Given the description of an element on the screen output the (x, y) to click on. 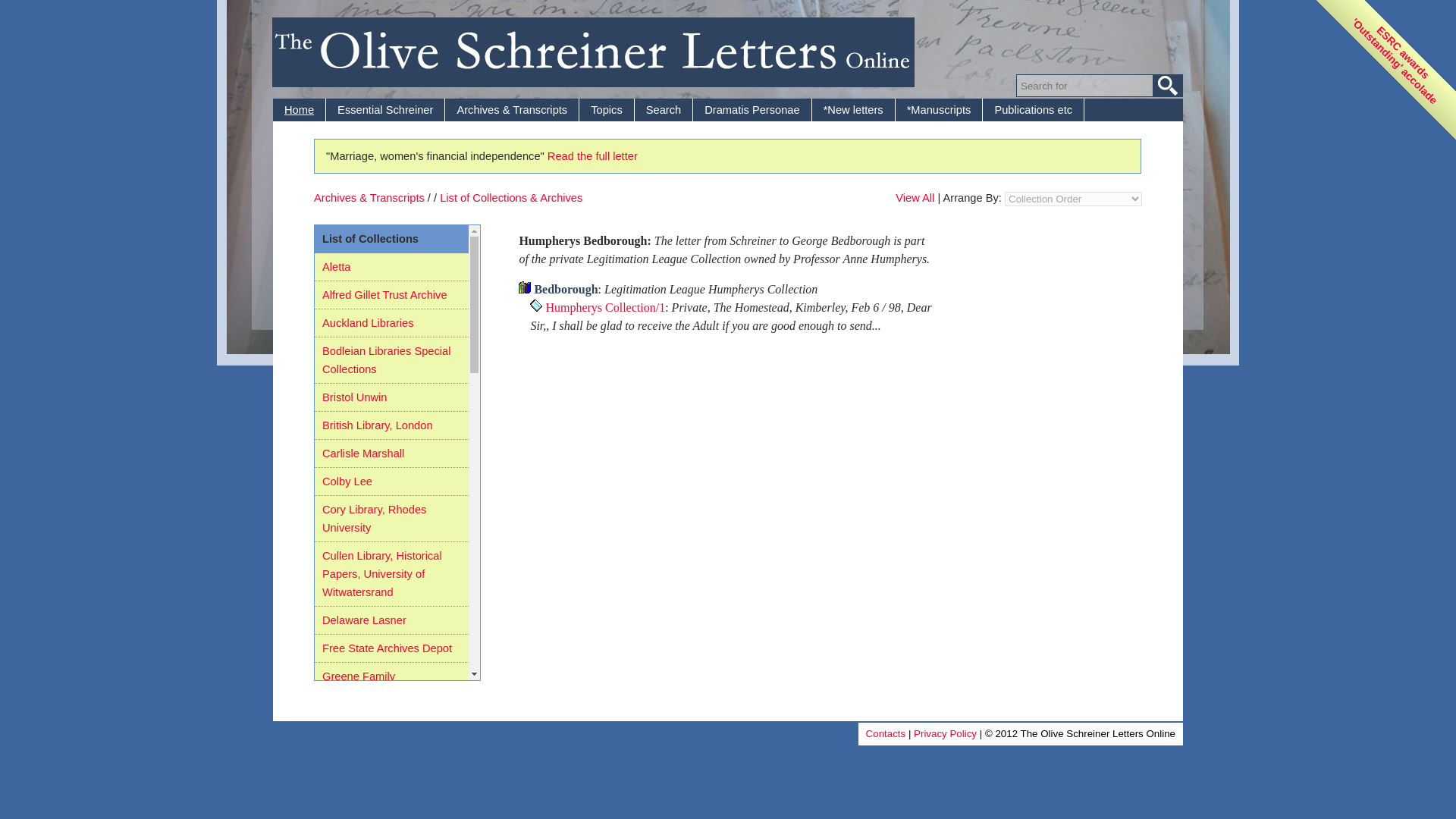
Aletta (335, 266)
Search (663, 109)
Bristol Unwin (354, 397)
Collection (524, 287)
Letter Item (535, 305)
Read the full letter (592, 155)
Free State Archives Depot (386, 648)
Publications etc (1033, 109)
Hobhouse Trust (360, 704)
Greene Family (357, 676)
British Library, London (376, 425)
Essential Schreiner (385, 109)
Dramatis Personae (751, 109)
Cory Library, Rhodes University (373, 518)
